Given the description of an element on the screen output the (x, y) to click on. 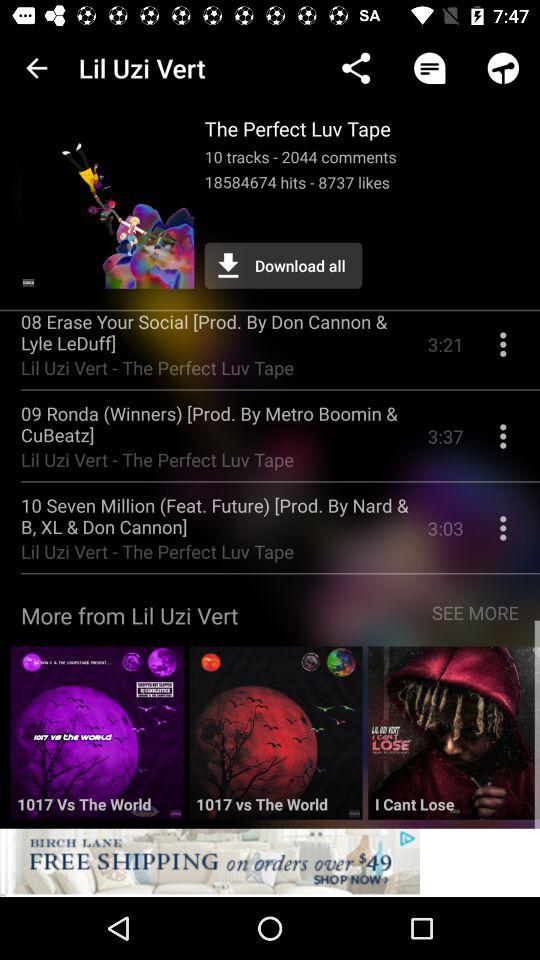
press item to the left of lil uzi vert icon (36, 68)
